Given the description of an element on the screen output the (x, y) to click on. 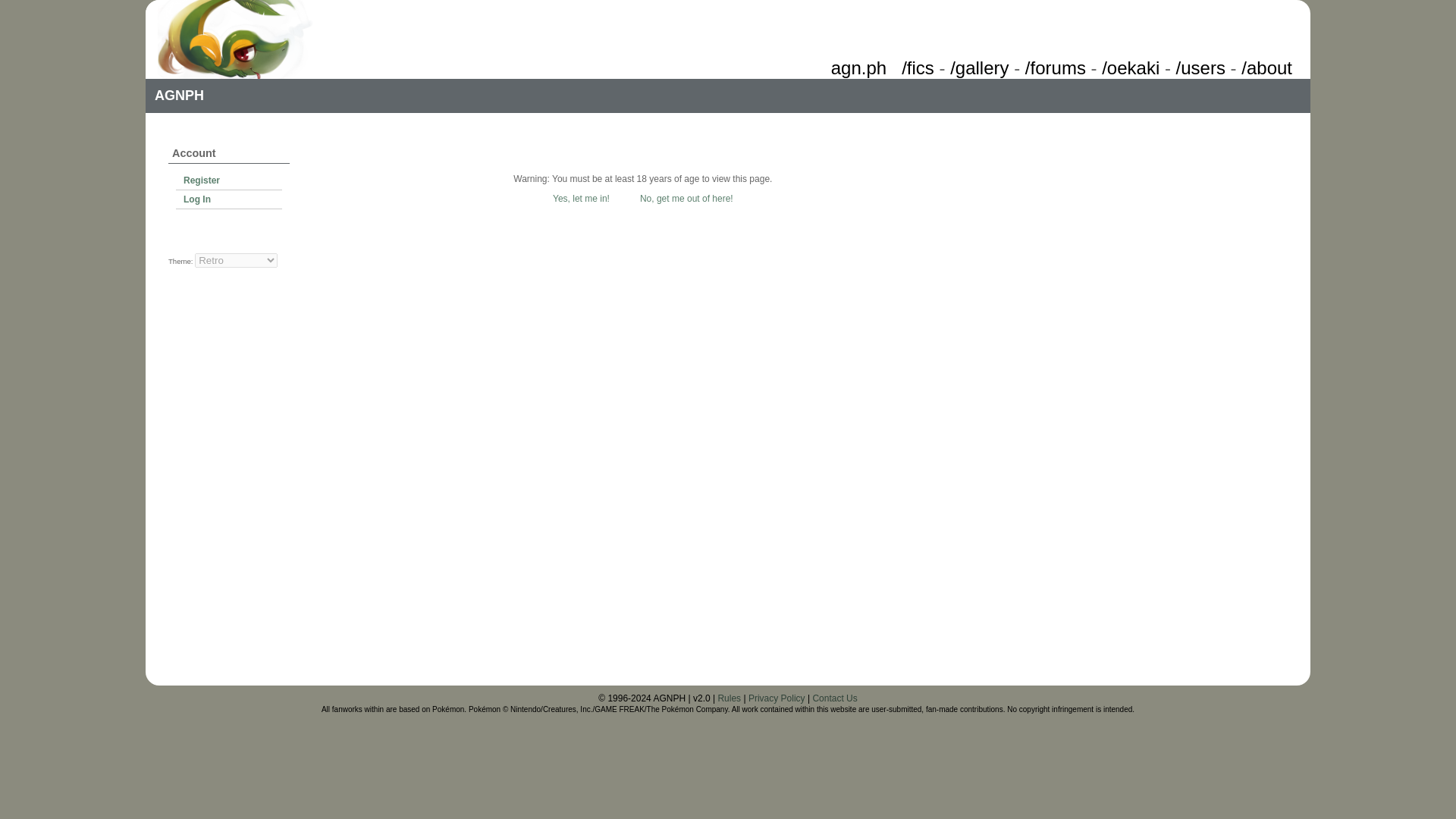
agn.ph (858, 67)
Register (229, 180)
Rules (729, 697)
Contact Us (834, 697)
Yes, let me in! (581, 198)
No, get me out of here! (686, 198)
Log In (229, 199)
Privacy Policy (776, 697)
